Given the description of an element on the screen output the (x, y) to click on. 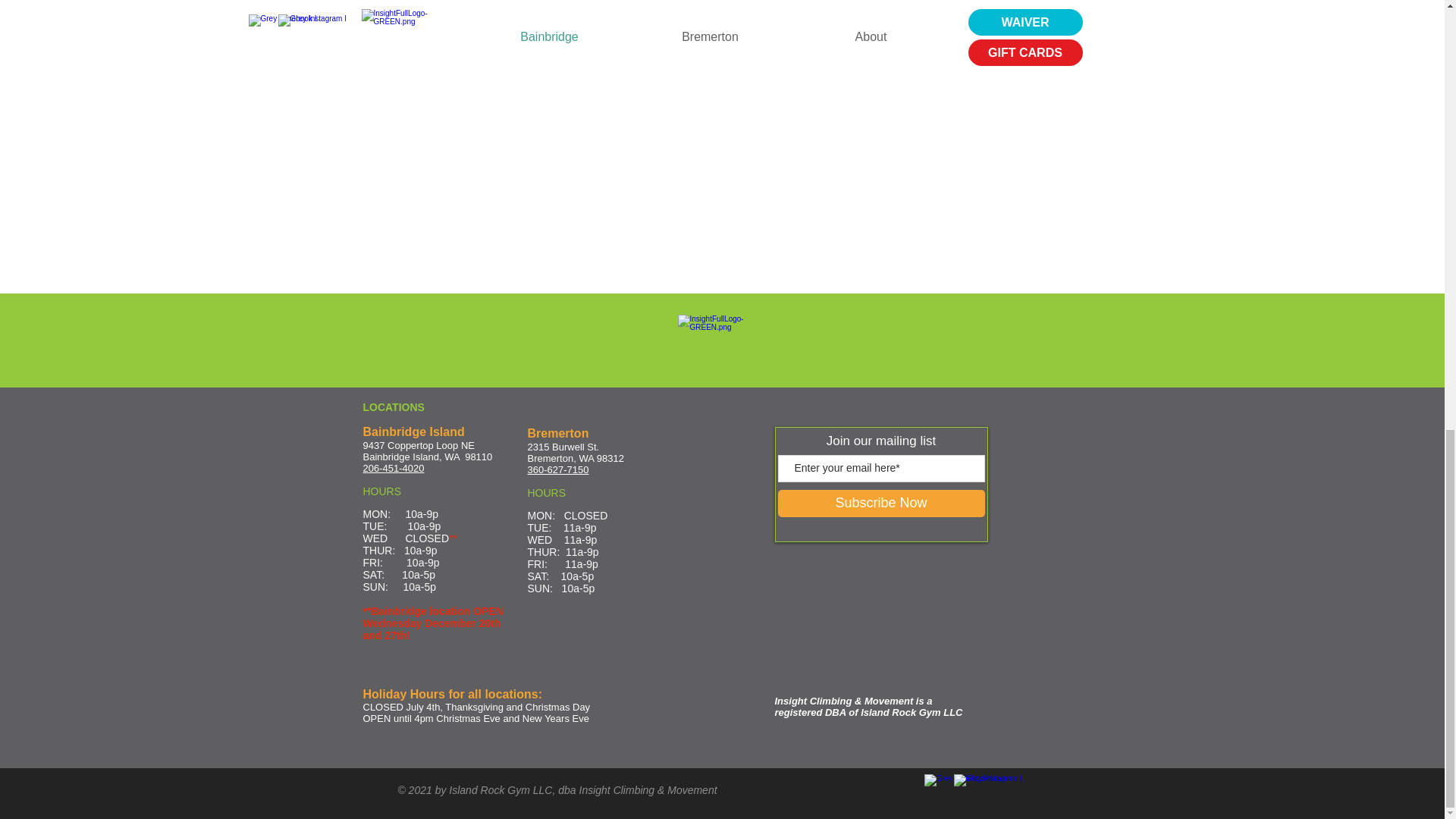
Subscribe Now (881, 502)
360-627-7150 (558, 469)
206-451-4020 (392, 468)
